Given the description of an element on the screen output the (x, y) to click on. 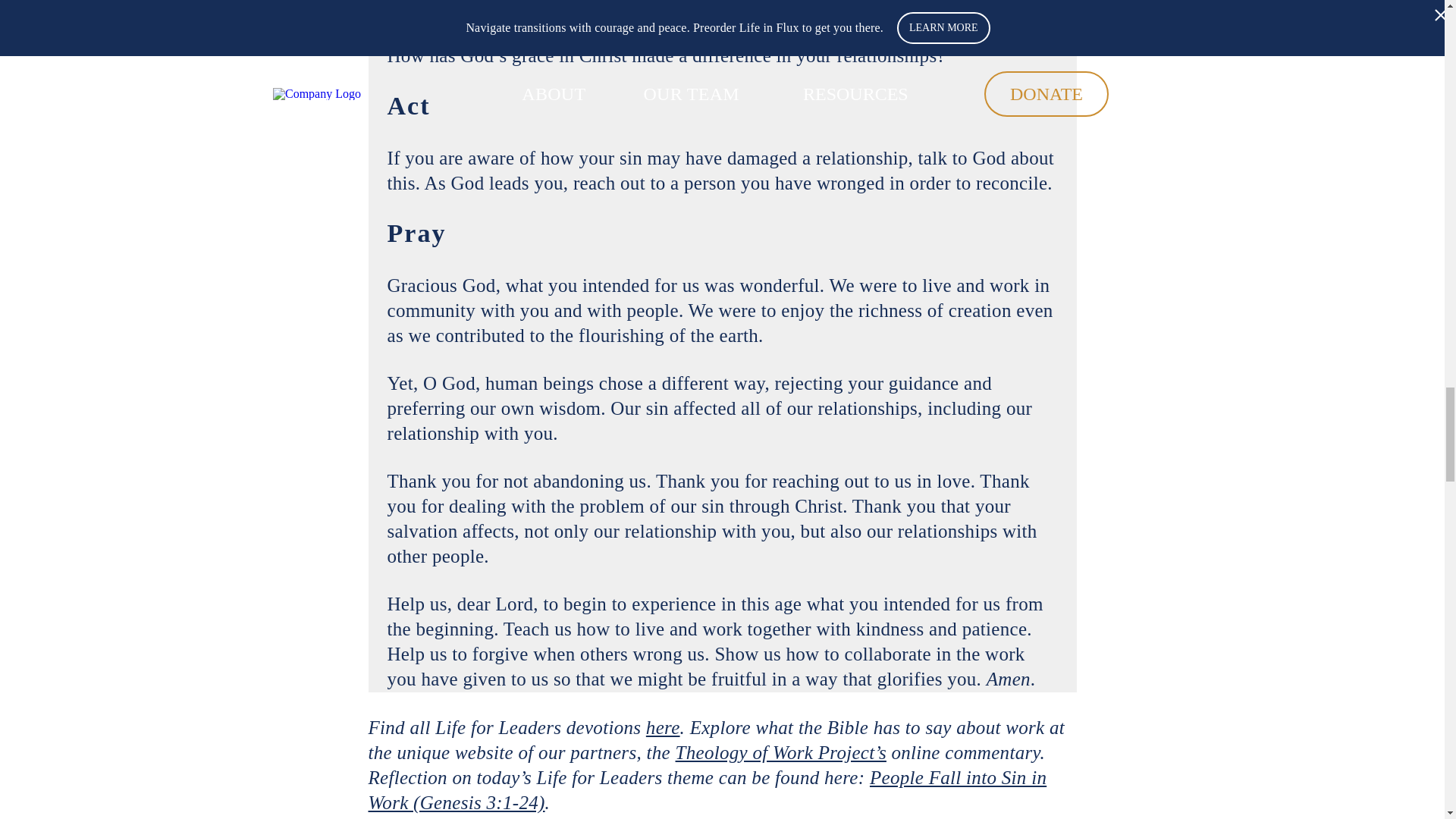
here (662, 727)
